Given the description of an element on the screen output the (x, y) to click on. 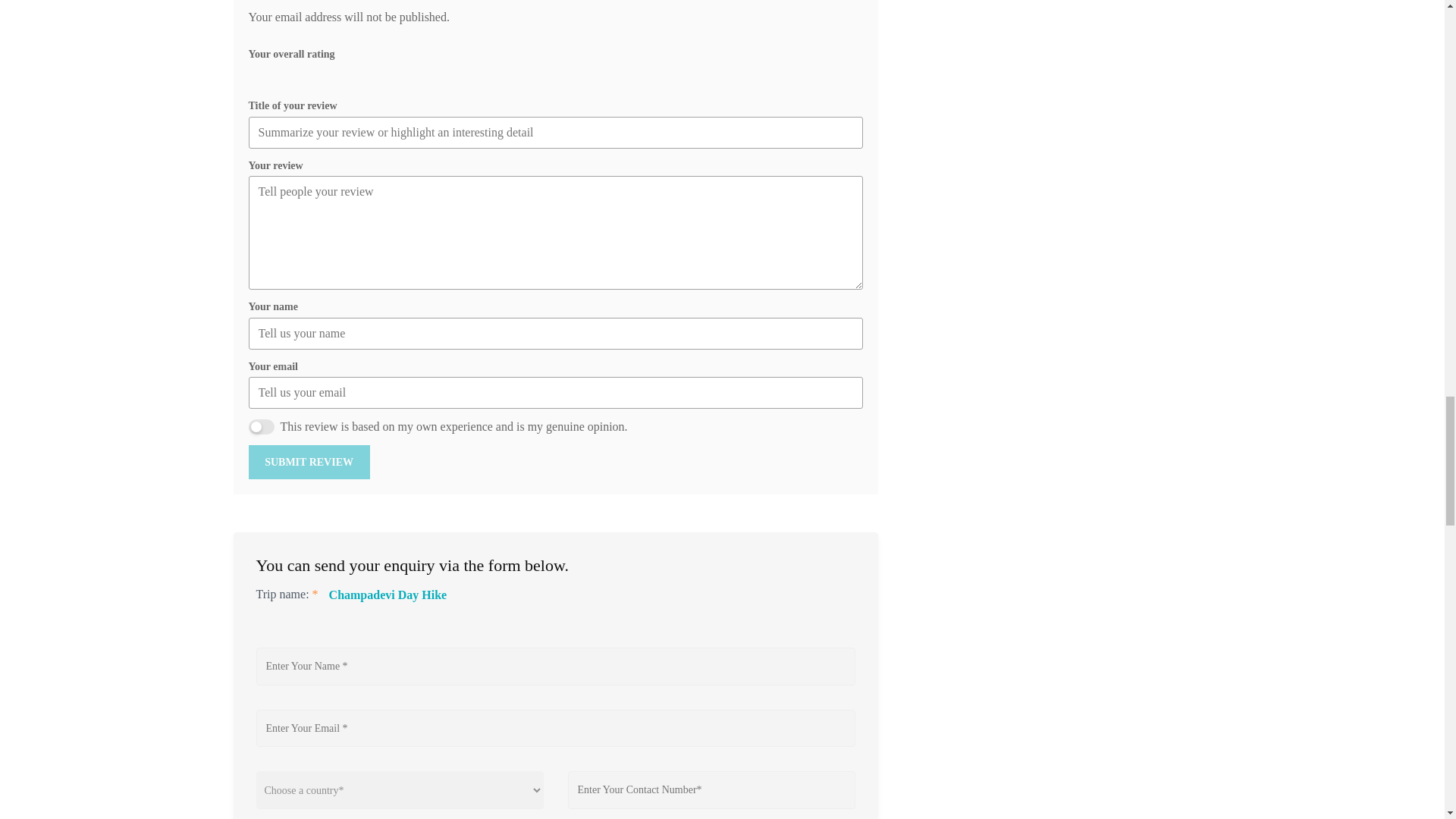
1 (261, 426)
